Given the description of an element on the screen output the (x, y) to click on. 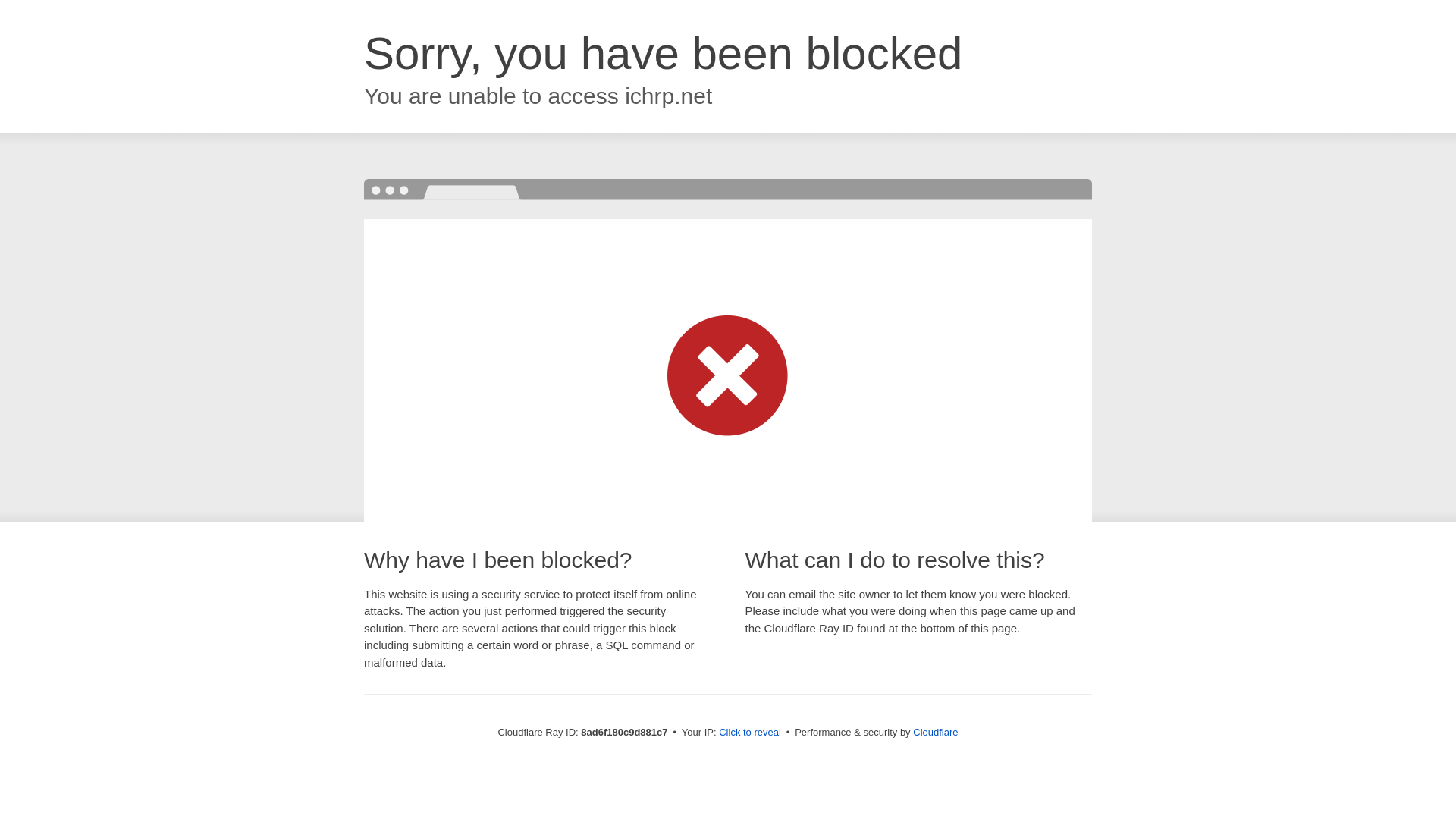
Cloudflare (935, 731)
Click to reveal (749, 732)
